Given the description of an element on the screen output the (x, y) to click on. 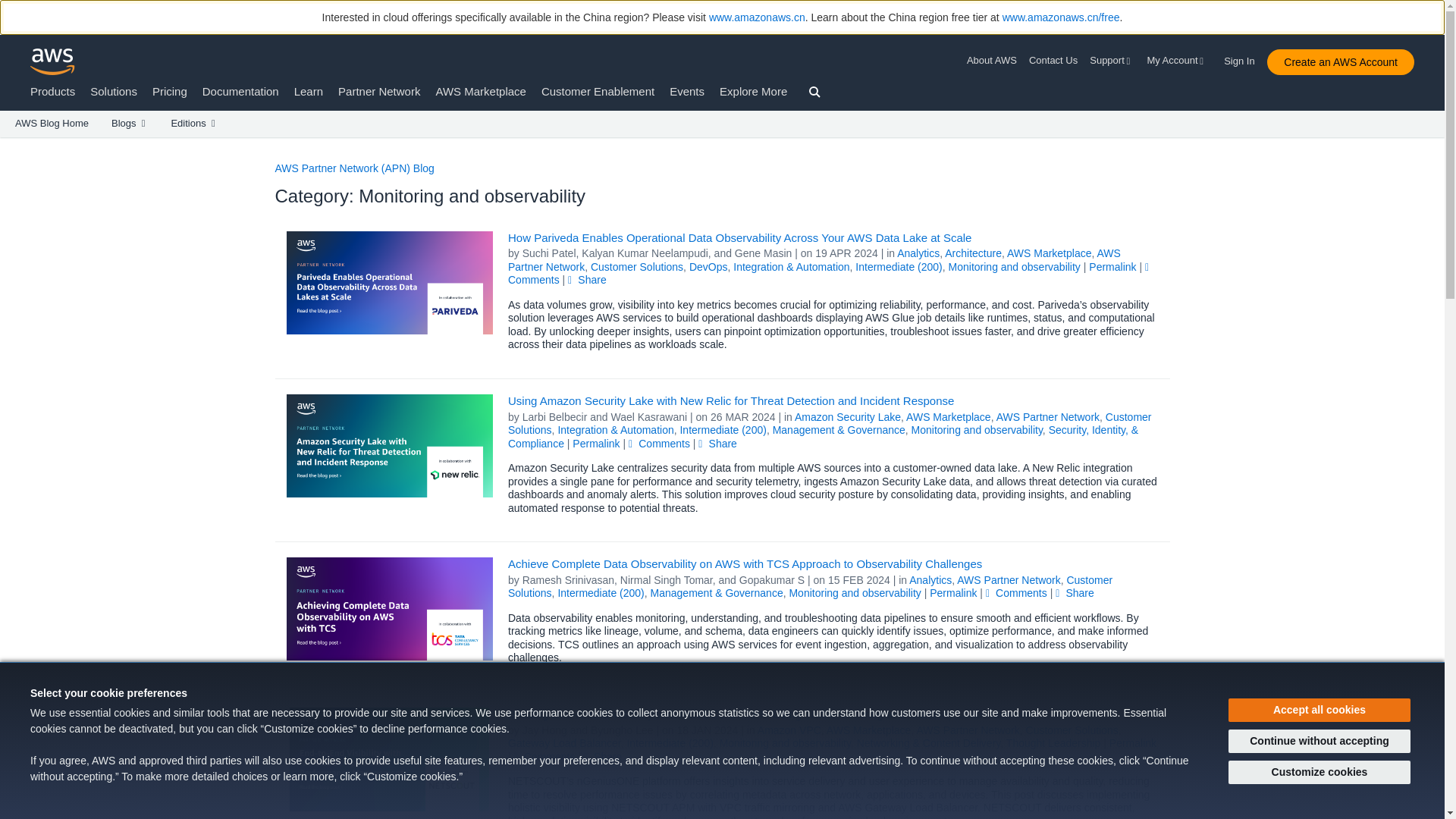
Create an AWS Account (1339, 62)
Click here to return to Amazon Web Services homepage (52, 61)
Learn (308, 91)
www.amazonaws.cn (757, 17)
View all posts in AWS Marketplace (1049, 253)
View all posts in Customer Solutions (636, 266)
Accept all cookies (1319, 709)
Contact Us (1053, 60)
View all posts in Analytics (917, 253)
Skip to Main Content (7, 143)
Customer Enablement (597, 91)
Solutions (113, 91)
Explore More (753, 91)
About AWS (994, 60)
Pricing (169, 91)
